Given the description of an element on the screen output the (x, y) to click on. 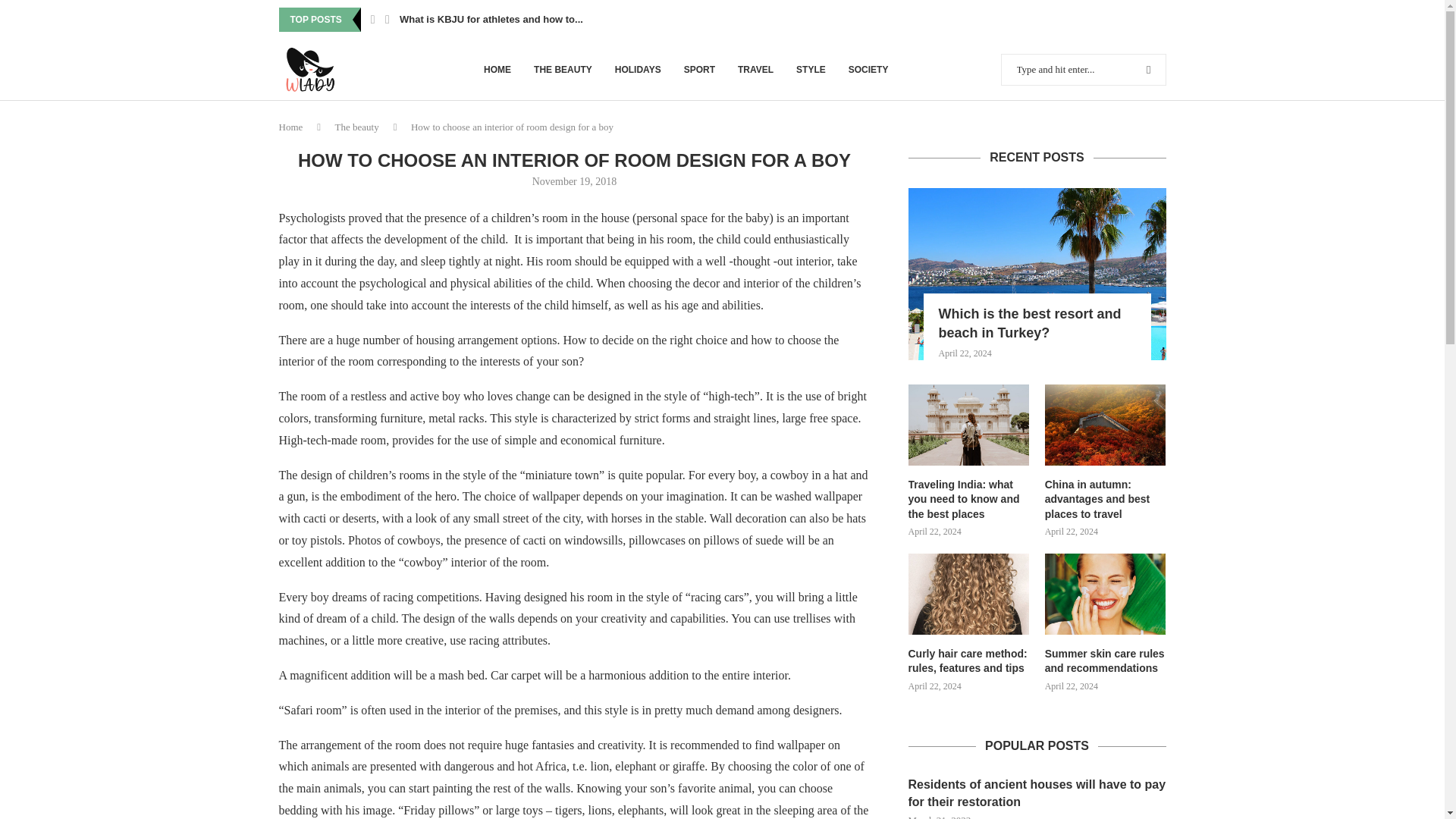
Curly hair care method: rules, features and tips (968, 661)
HOLIDAYS (637, 69)
Summer skin care rules and recommendations (1105, 593)
Traveling India: what you need to know and the best places (968, 499)
TRAVEL (755, 69)
HOME (497, 69)
Which is the best resort and beach in Turkey? (1037, 274)
Which is the best resort and beach in Turkey? (1040, 323)
What is KBJU for athletes and how to... (490, 19)
SPORT (699, 69)
THE BEAUTY (563, 69)
Curly hair care method: rules, features and tips (968, 593)
China in autumn: advantages and best places to travel (1105, 499)
STYLE (810, 69)
China in autumn: advantages and best places to travel (1105, 425)
